Given the description of an element on the screen output the (x, y) to click on. 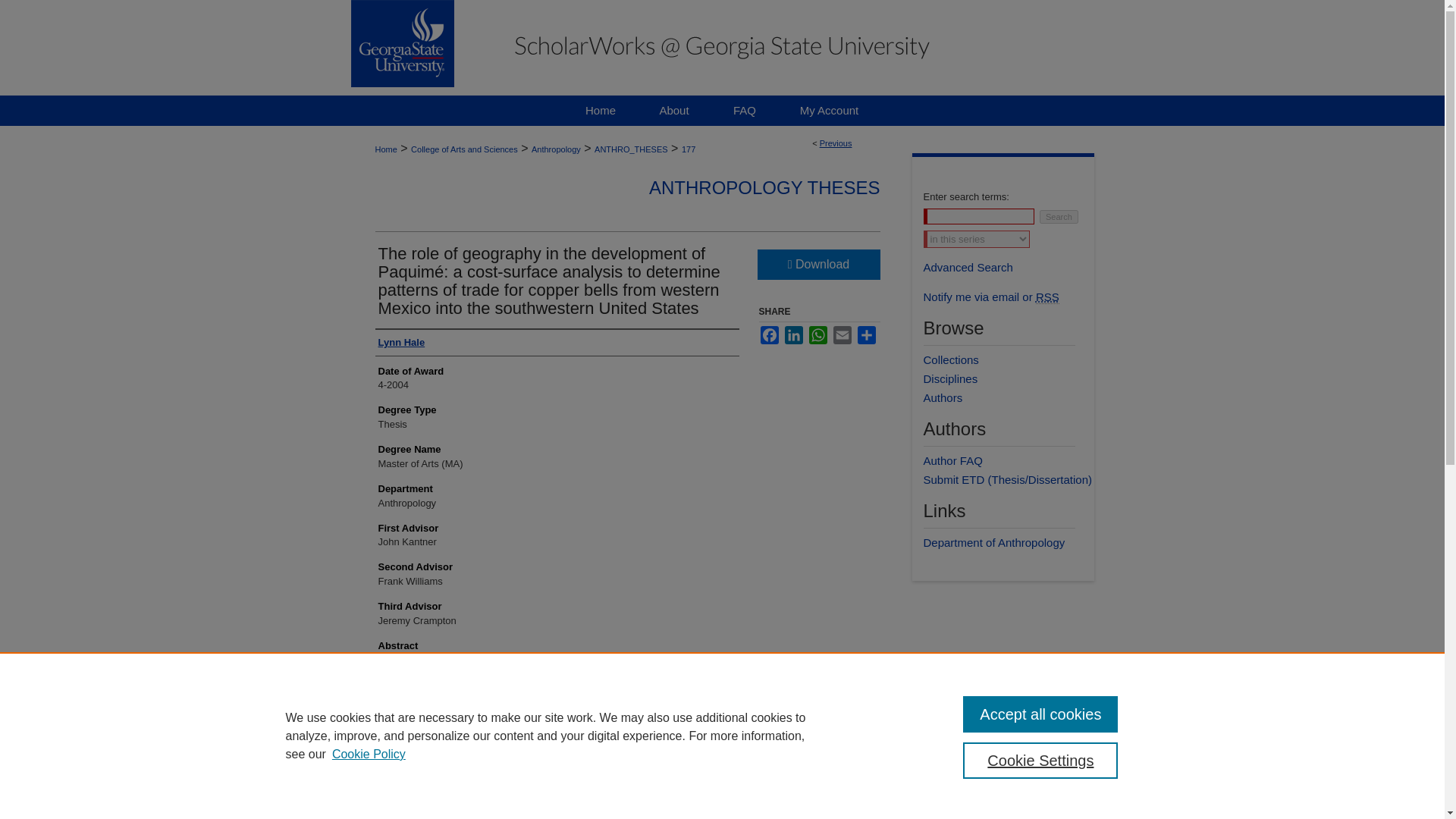
Home (600, 110)
Home (385, 148)
My Account (828, 110)
Really Simple Syndication (1047, 296)
Lynn Hale (401, 342)
FAQ (744, 110)
Notify me via email or RSS (1008, 296)
Browse by Author (1008, 397)
Email (841, 334)
Home (600, 110)
Email or RSS Notifications (1008, 296)
College of Arts and Sciences (464, 148)
About (674, 110)
Search (1058, 216)
LinkedIn (793, 334)
